Given the description of an element on the screen output the (x, y) to click on. 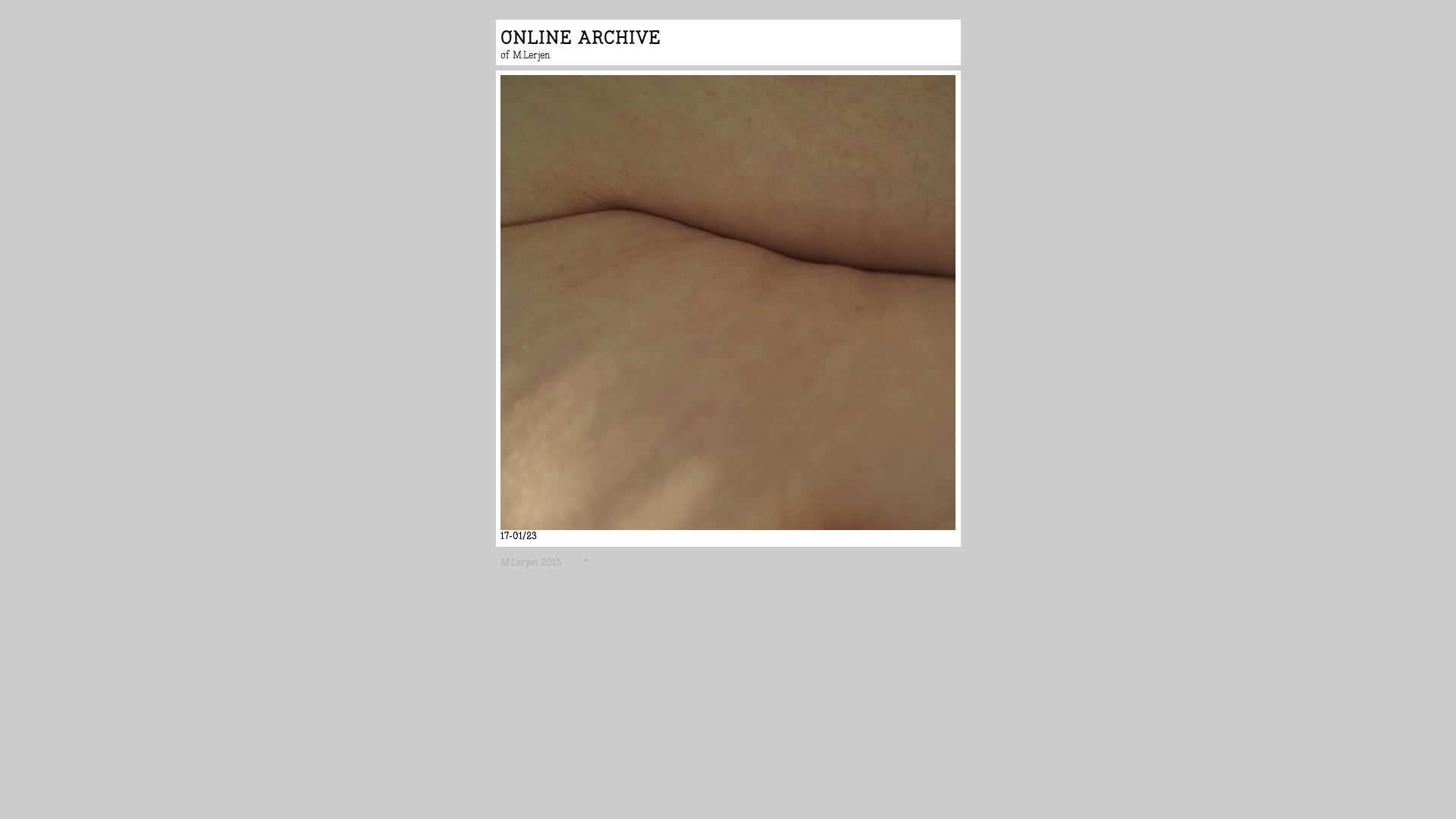
M.Lerjen 2015 Element type: text (540, 561)
* Element type: text (590, 561)
